Given the description of an element on the screen output the (x, y) to click on. 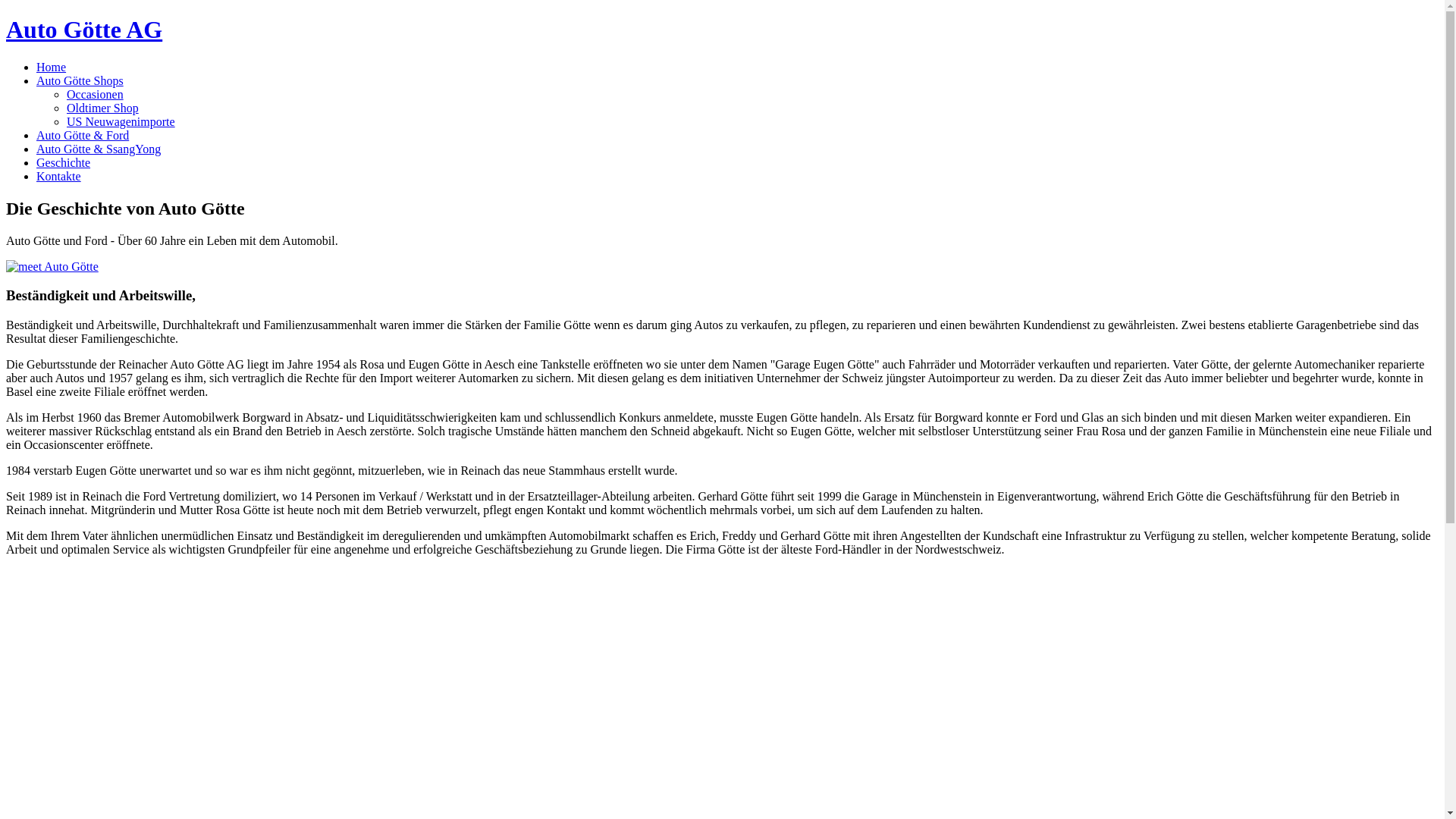
US Neuwagenimporte Element type: text (120, 121)
Home Element type: text (50, 66)
Geschichte Element type: text (63, 162)
Occasionen Element type: text (94, 93)
Oldtimer Shop Element type: text (102, 107)
Kontakte Element type: text (58, 175)
